Given the description of an element on the screen output the (x, y) to click on. 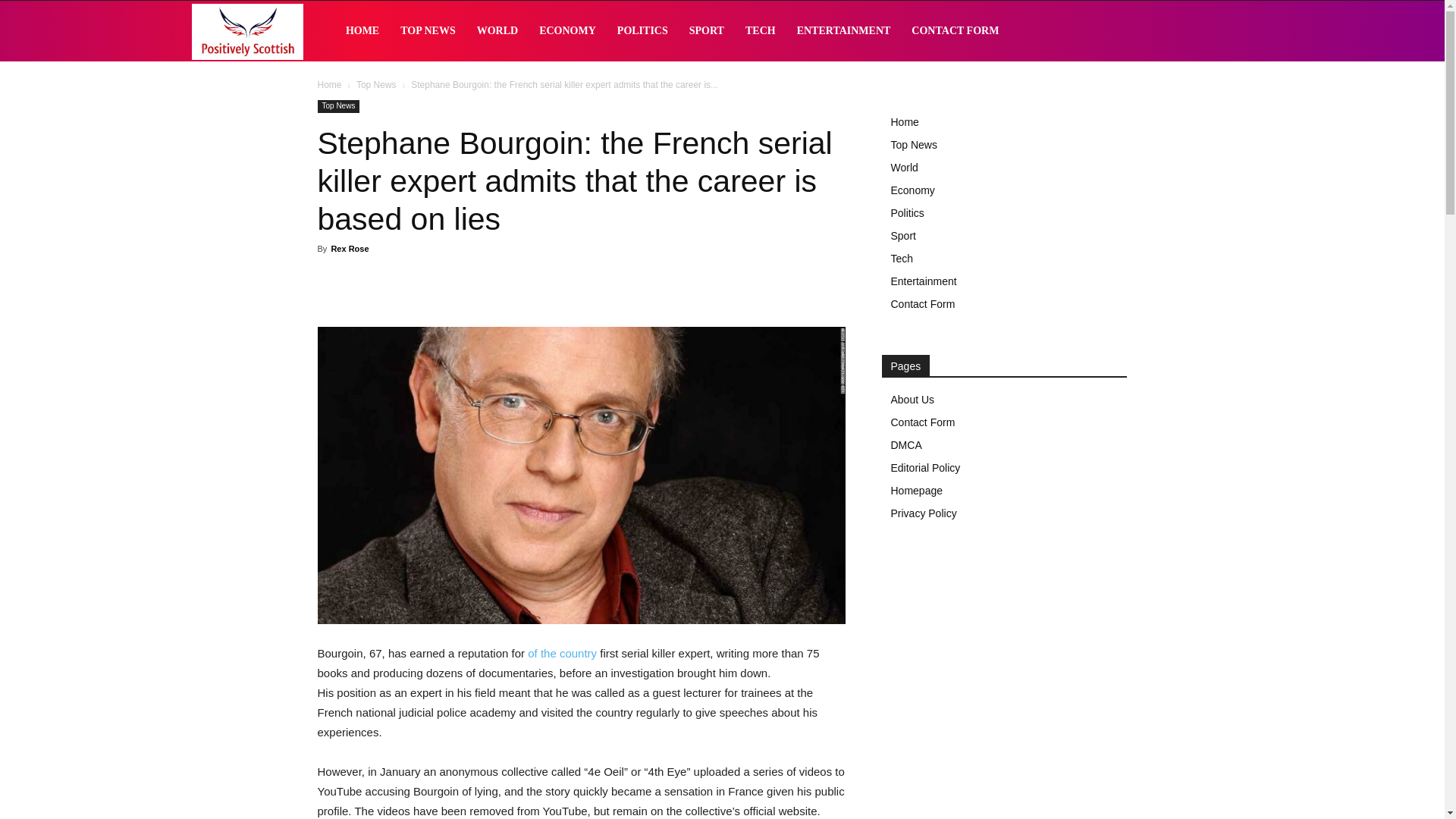
Home (328, 84)
POLITICS (642, 30)
Rex Rose (349, 248)
Top News (376, 84)
ENTERTAINMENT (843, 30)
CONTACT FORM (955, 30)
View all posts in Top News (376, 84)
WORLD (496, 30)
ECONOMY (567, 30)
